Given the description of an element on the screen output the (x, y) to click on. 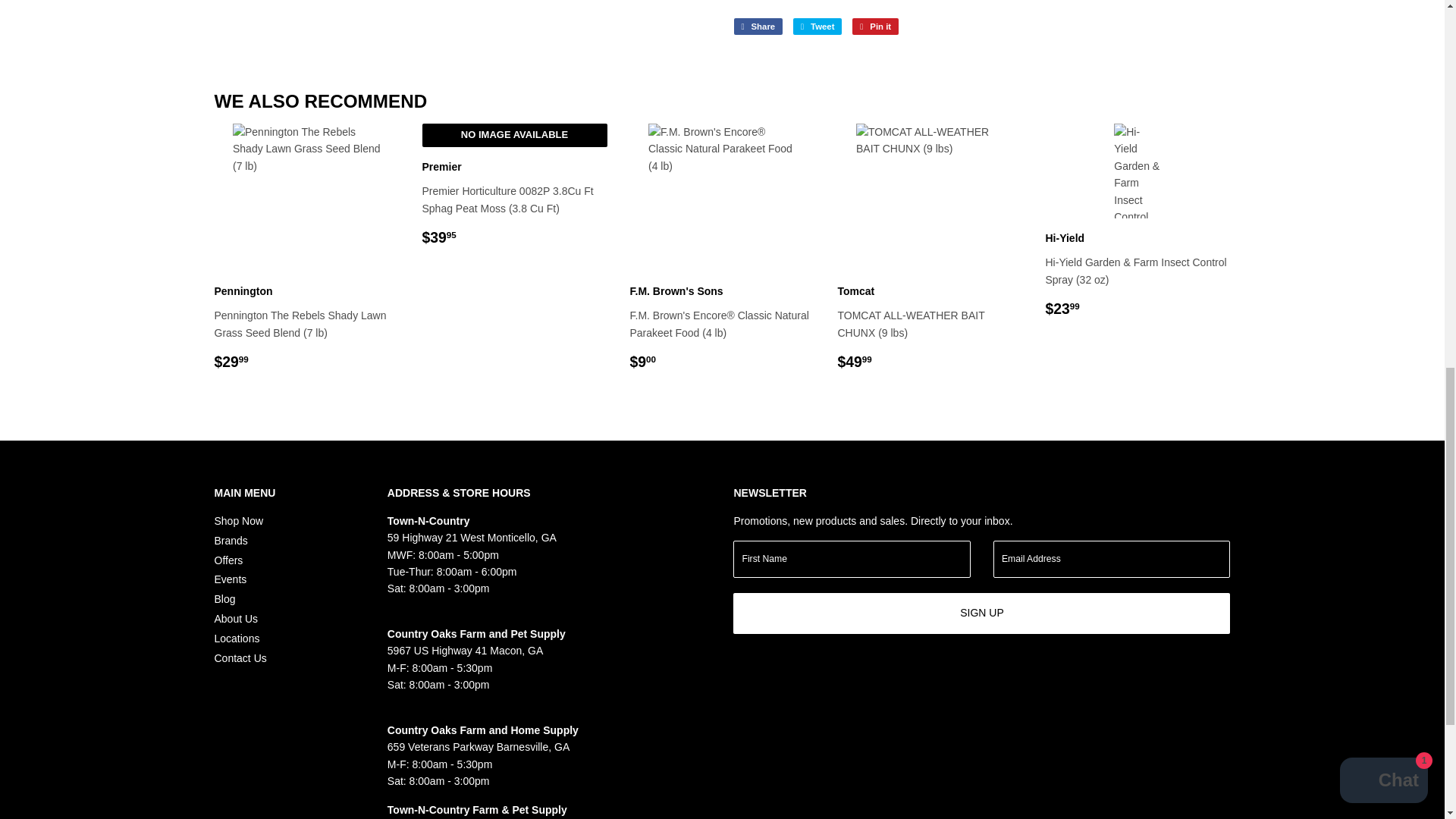
Share on Facebook (758, 26)
Pin on Pinterest (874, 26)
Tweet on Twitter (817, 26)
